Given the description of an element on the screen output the (x, y) to click on. 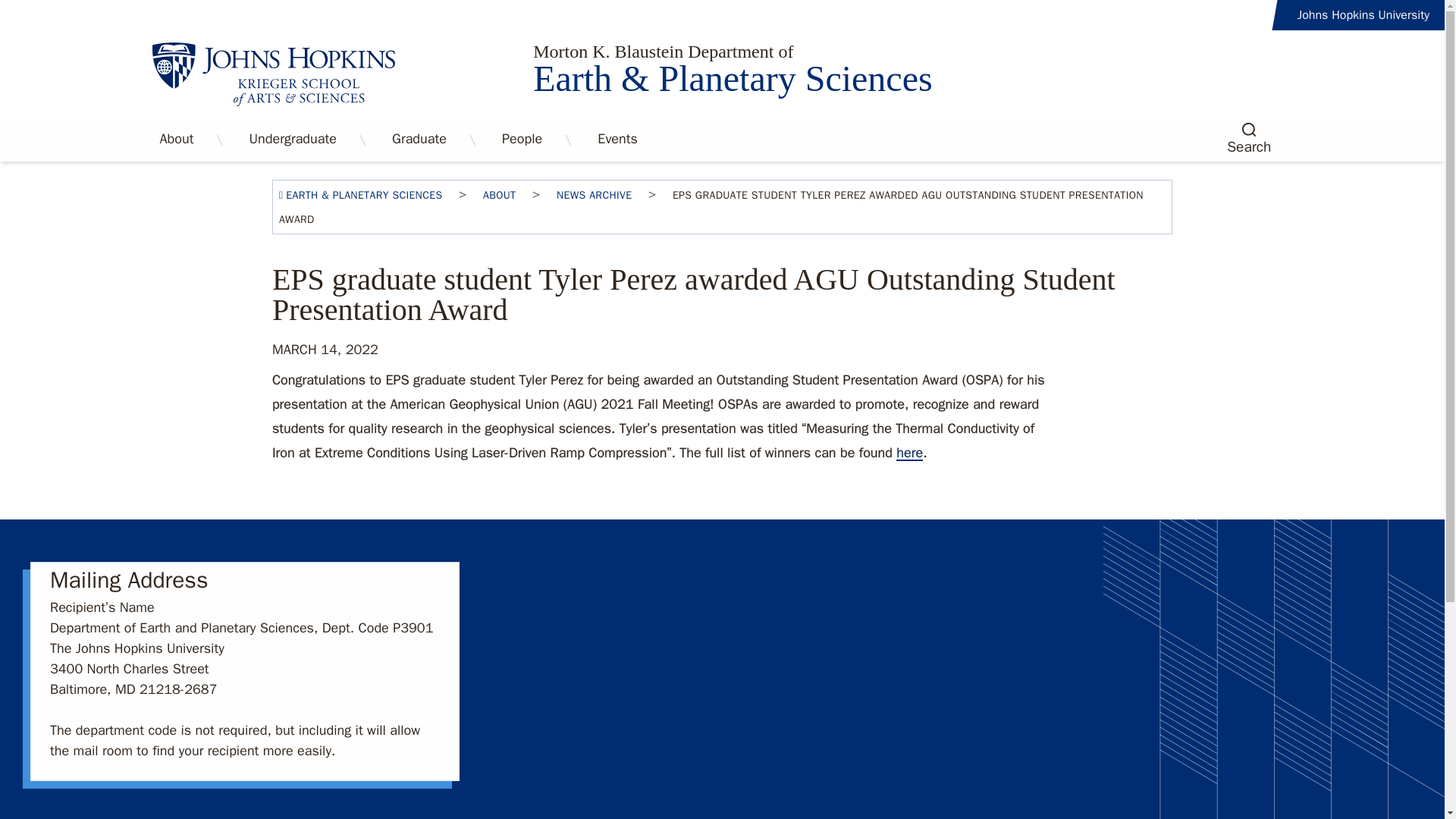
Search (1248, 136)
Graduate (418, 139)
Undergraduate (292, 139)
Johns Hopkins University (1363, 14)
Go to News Archive. (593, 195)
Go to About. (499, 195)
People (522, 139)
About (175, 139)
Events (617, 139)
